Given the description of an element on the screen output the (x, y) to click on. 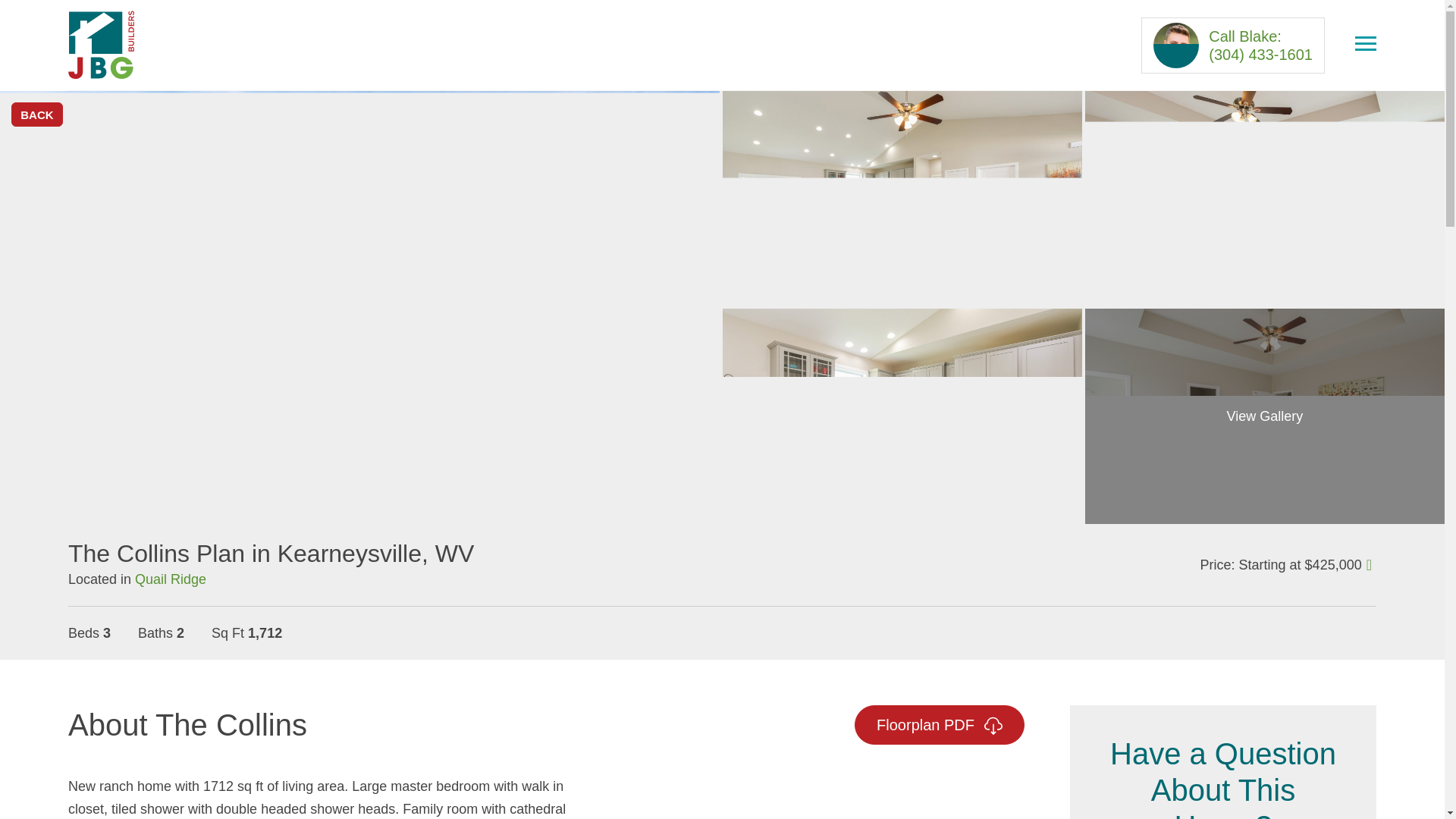
Download Floorplan PDF (939, 724)
Floorplan PDF (939, 724)
Quail Ridge (170, 579)
Call Blake (1232, 44)
BACK (36, 114)
